Given the description of an element on the screen output the (x, y) to click on. 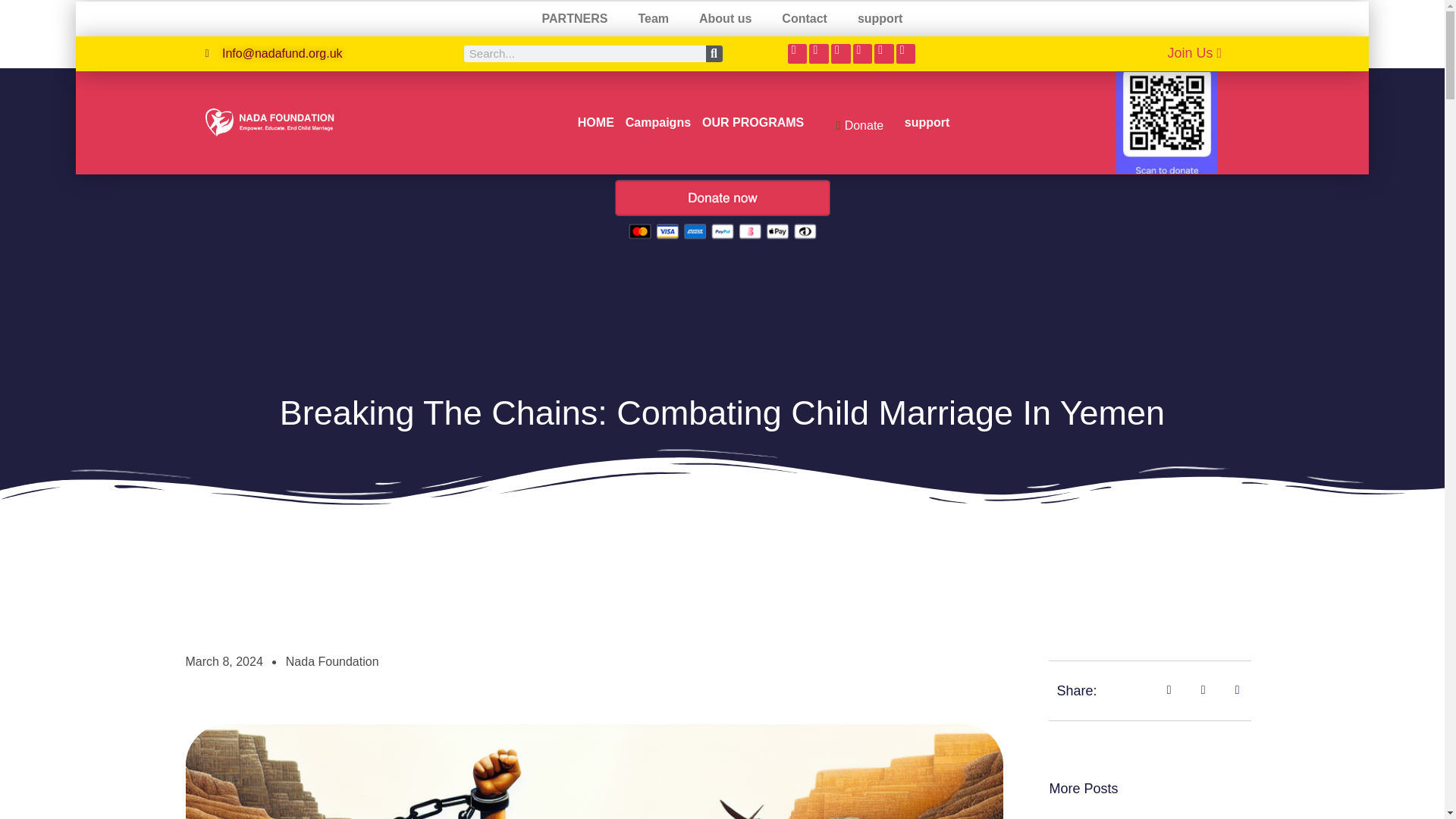
About us (725, 18)
HOME (595, 122)
support (927, 122)
Contact (805, 18)
Join Us (1194, 52)
PARTNERS (575, 18)
OUR PROGRAMS (753, 122)
support (880, 18)
Team (653, 18)
Campaigns (657, 122)
